Given the description of an element on the screen output the (x, y) to click on. 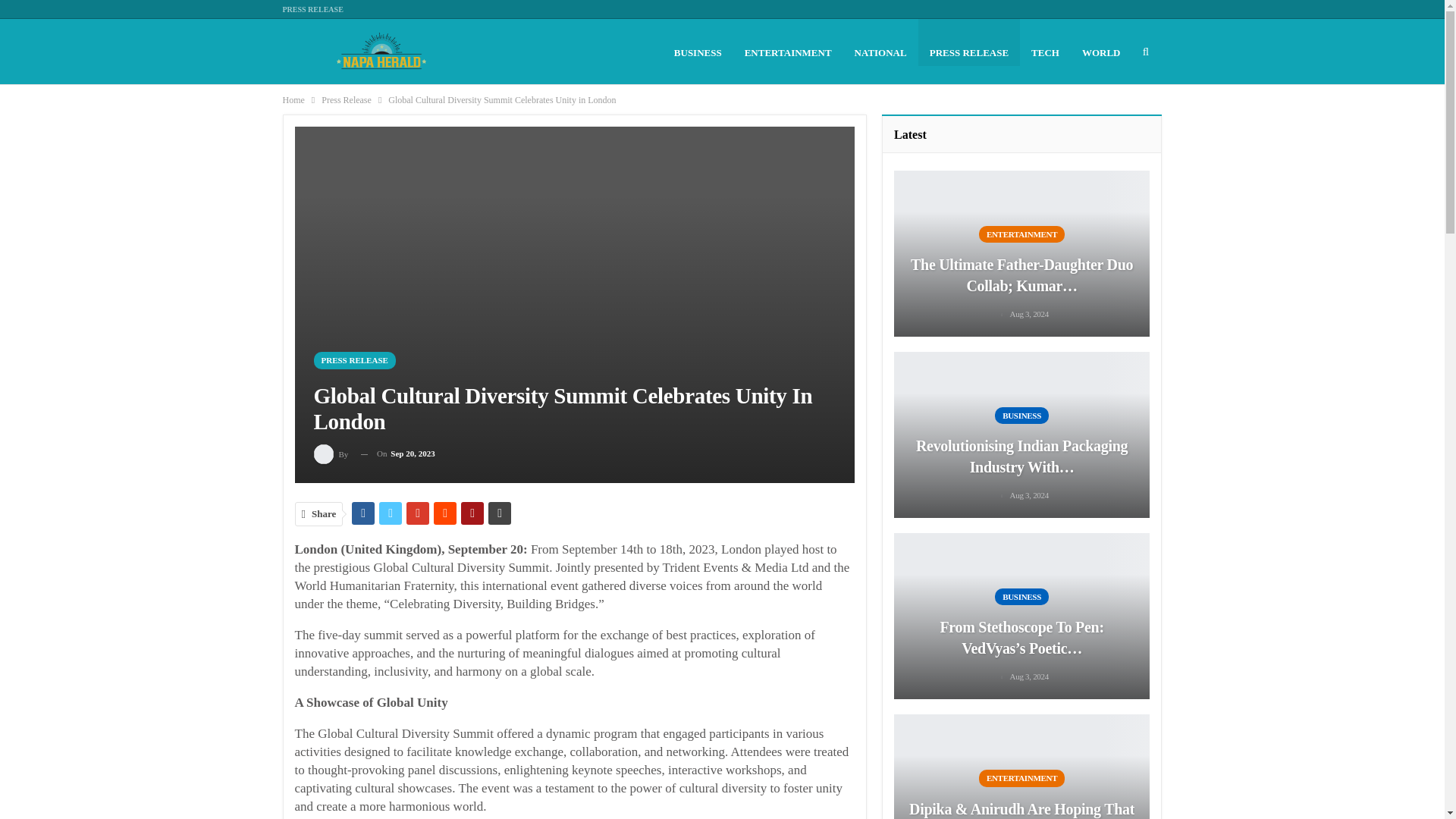
PRESS RELEASE (312, 8)
PRESS RELEASE (355, 360)
Press Release (346, 99)
WORLD (1101, 52)
PRESS RELEASE (969, 52)
TECH (1045, 52)
ENTERTAINMENT (788, 52)
By (332, 453)
NATIONAL (880, 52)
BUSINESS (697, 52)
Home (293, 99)
Browse Author Articles (332, 453)
